Given the description of an element on the screen output the (x, y) to click on. 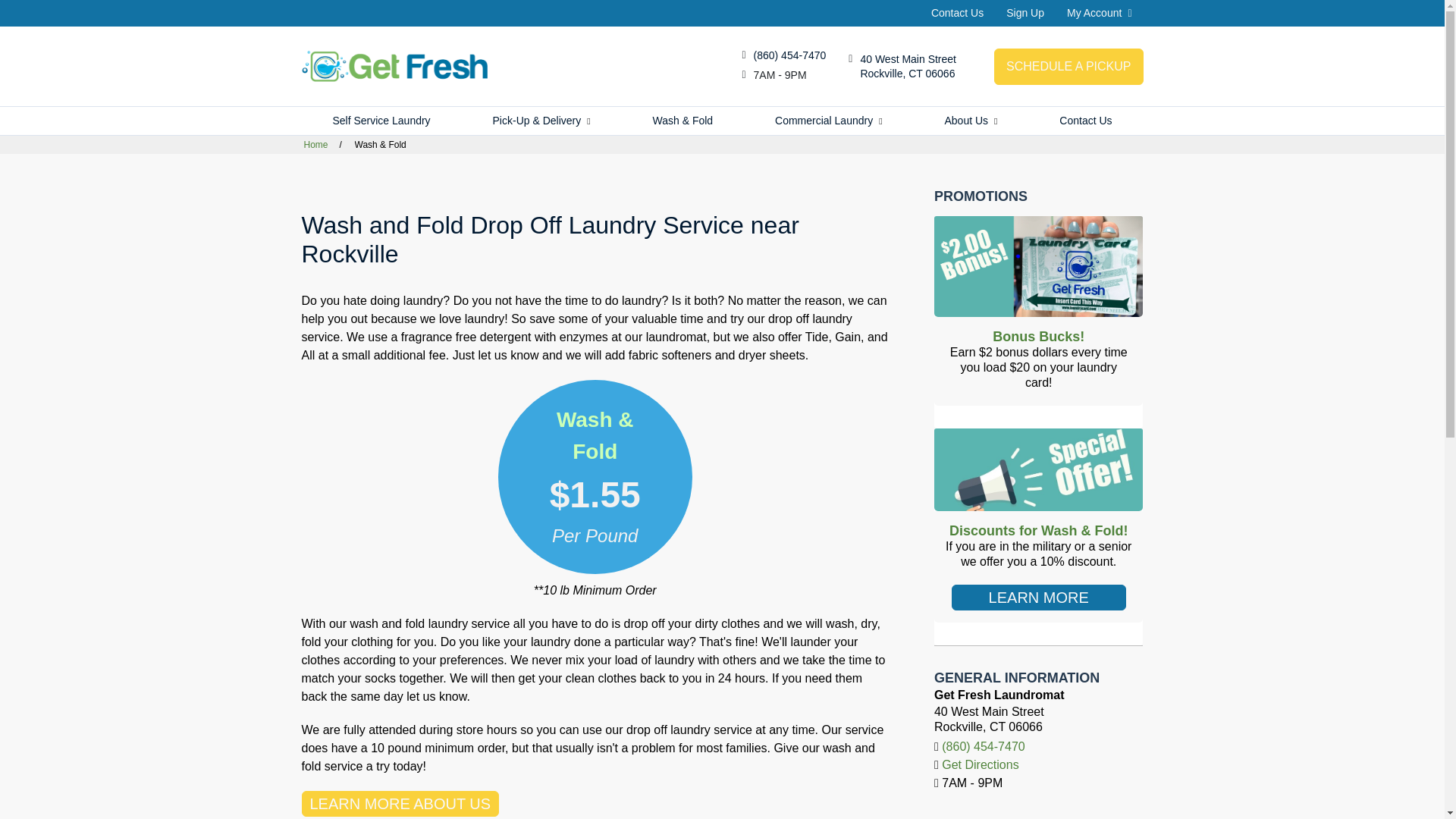
About Us (908, 65)
My Account (971, 121)
Contact Us (1099, 12)
Schedule a Pickup (1084, 121)
SCHEDULE A PICKUP (1068, 66)
My Account (1068, 66)
Self Service Laundry (1099, 12)
Contact Us (381, 121)
Get Directions (957, 12)
